Given the description of an element on the screen output the (x, y) to click on. 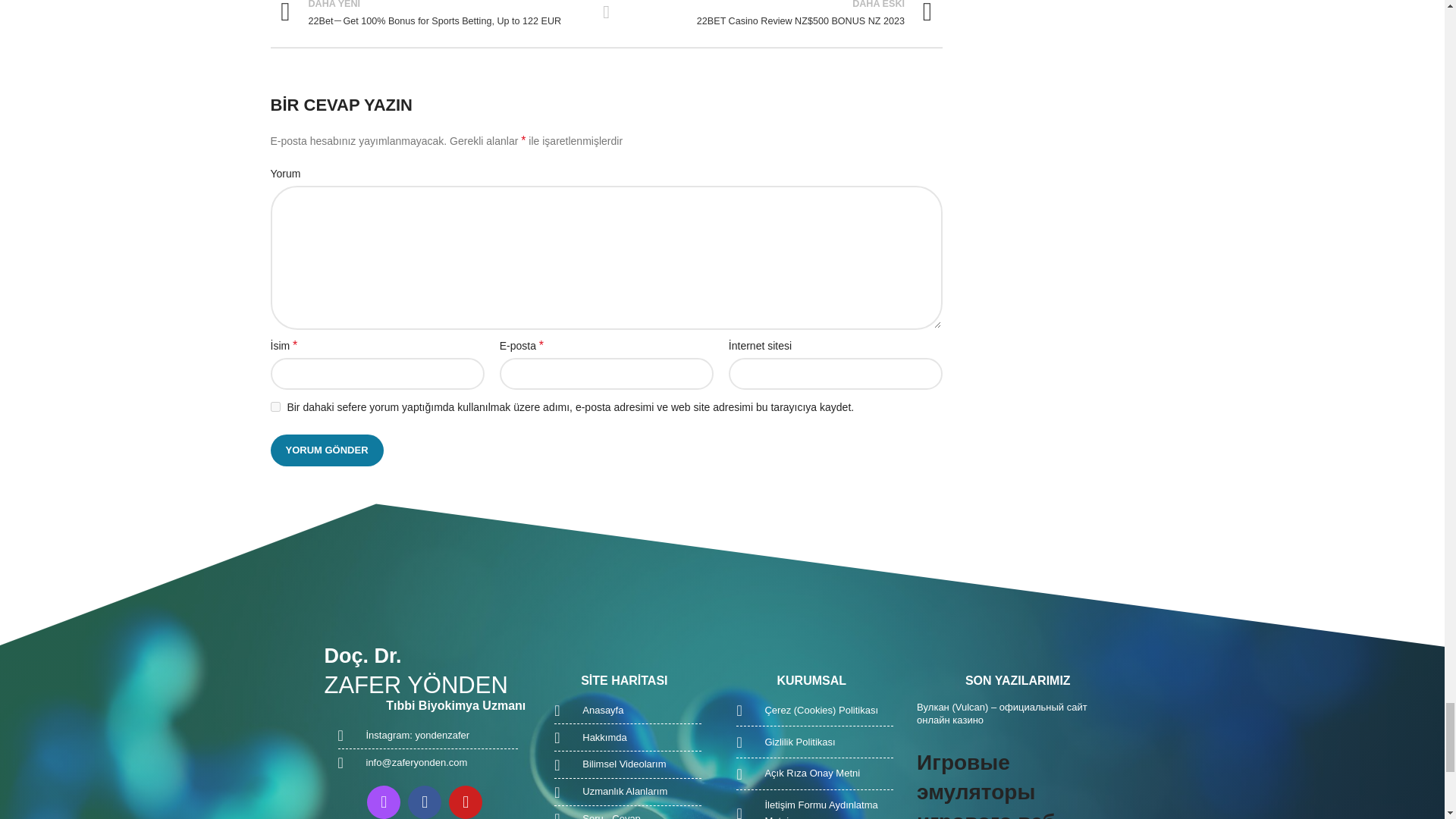
yes (274, 406)
